Given the description of an element on the screen output the (x, y) to click on. 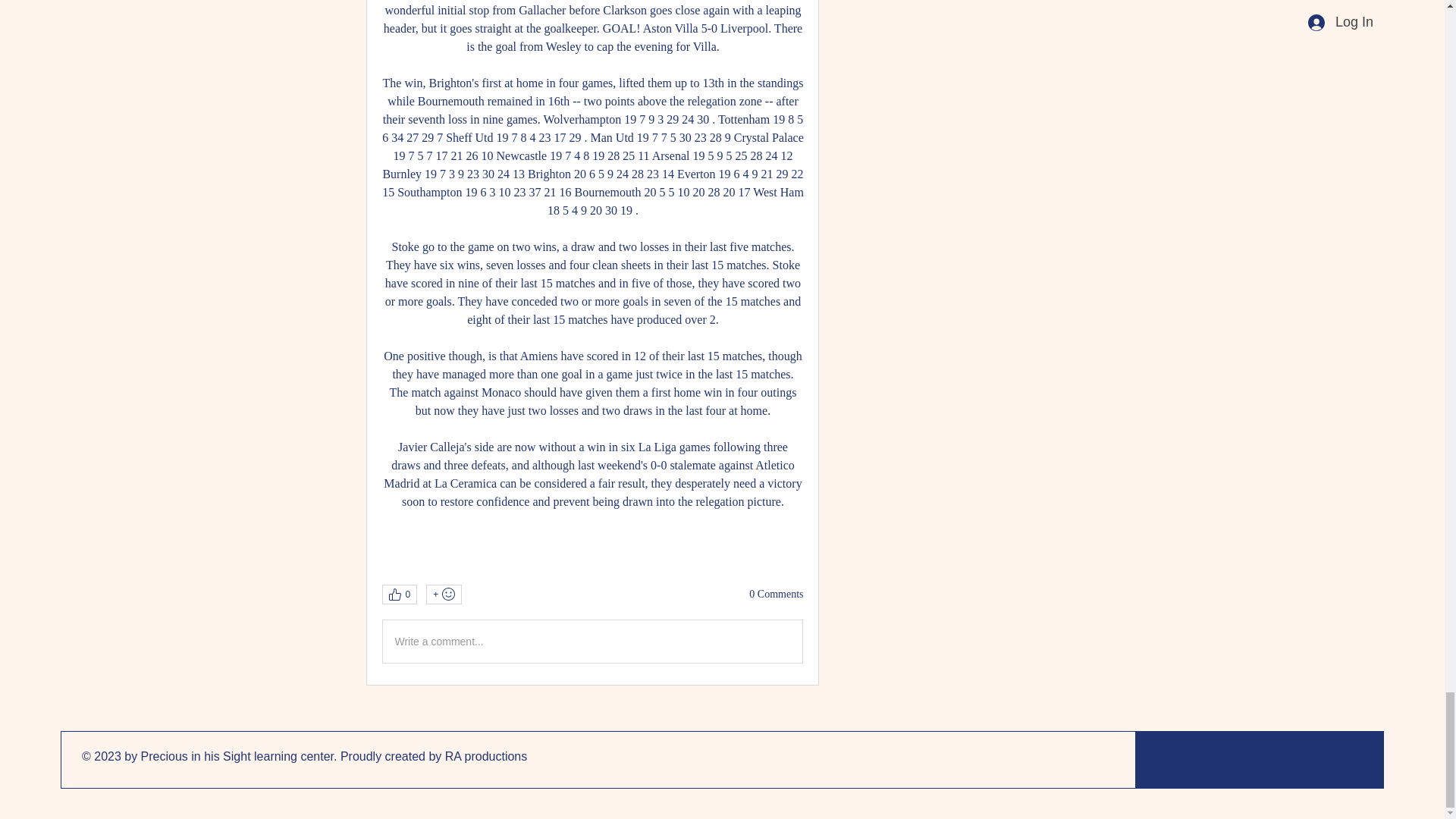
0 Comments (776, 594)
Write a comment... (591, 640)
